Given the description of an element on the screen output the (x, y) to click on. 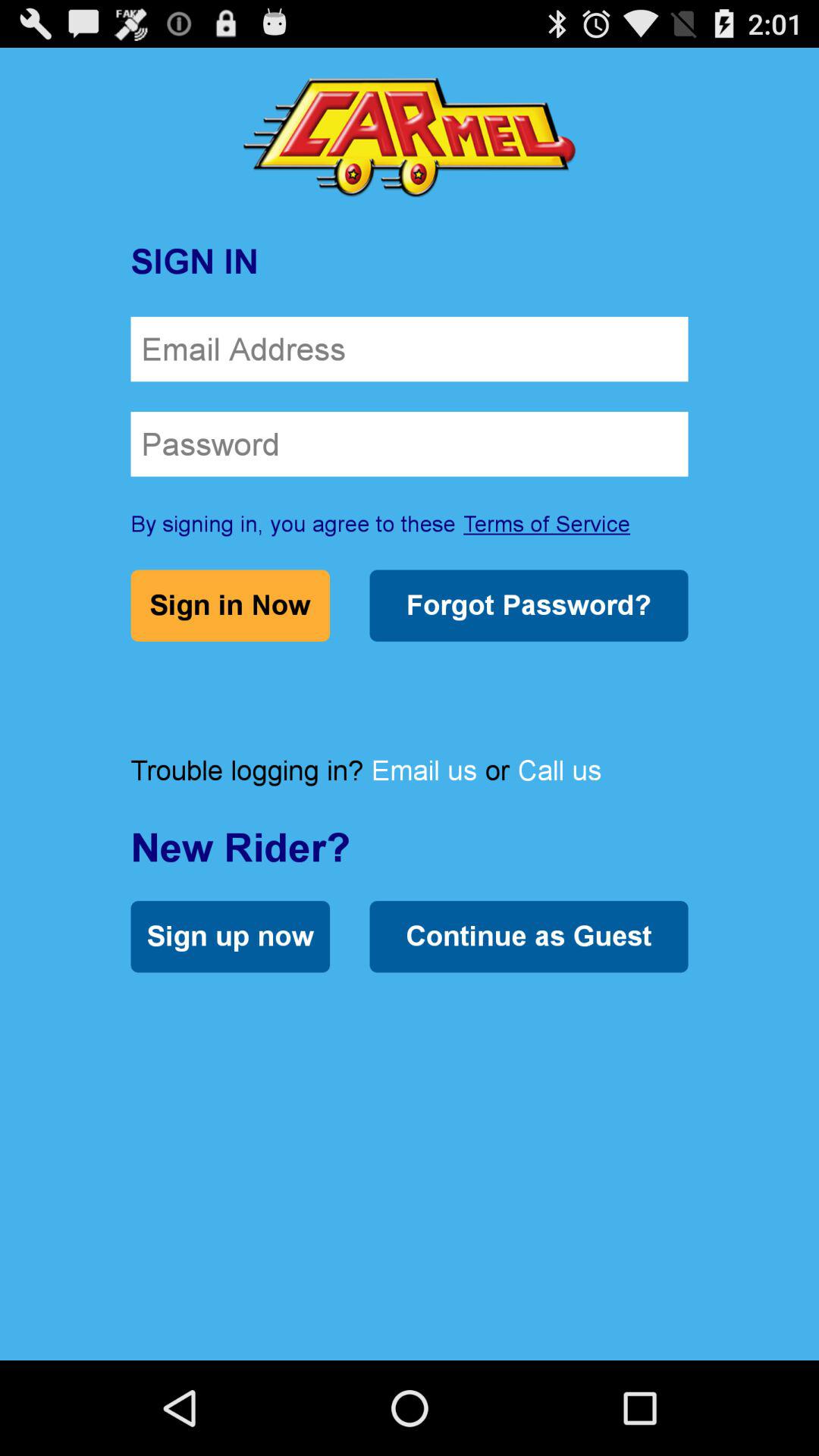
click icon below forgot password? (559, 770)
